Given the description of an element on the screen output the (x, y) to click on. 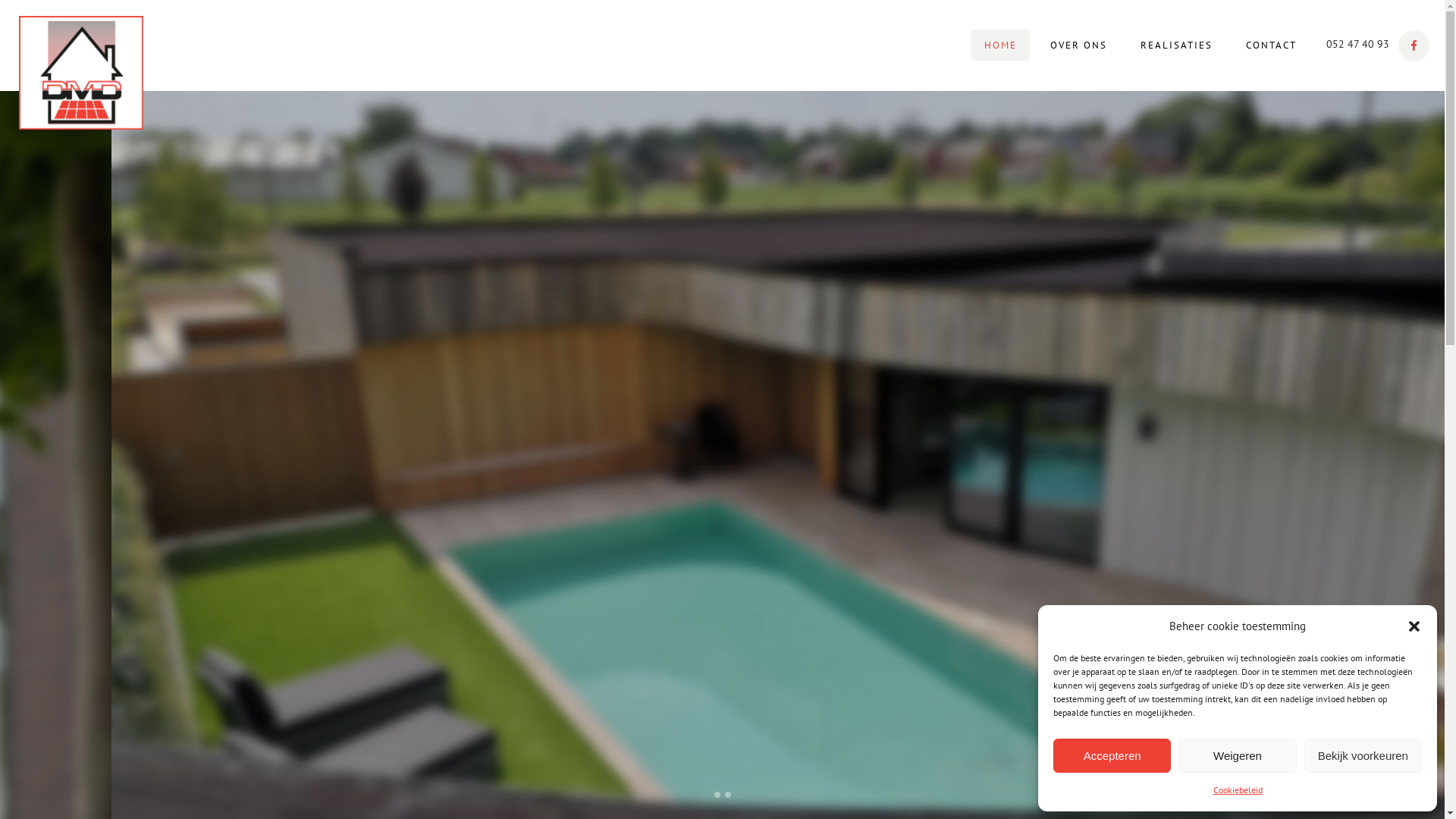
CONTACT Element type: text (1271, 45)
HOME Element type: text (1000, 45)
OVER ONS Element type: text (1078, 45)
Cookiebeleid Element type: text (1237, 790)
Weigeren Element type: text (1236, 755)
REALISATIES Element type: text (1176, 45)
Bekijk voorkeuren Element type: text (1362, 755)
Accepteren Element type: text (1111, 755)
052 47 40 93 Element type: text (1357, 44)
